Given the description of an element on the screen output the (x, y) to click on. 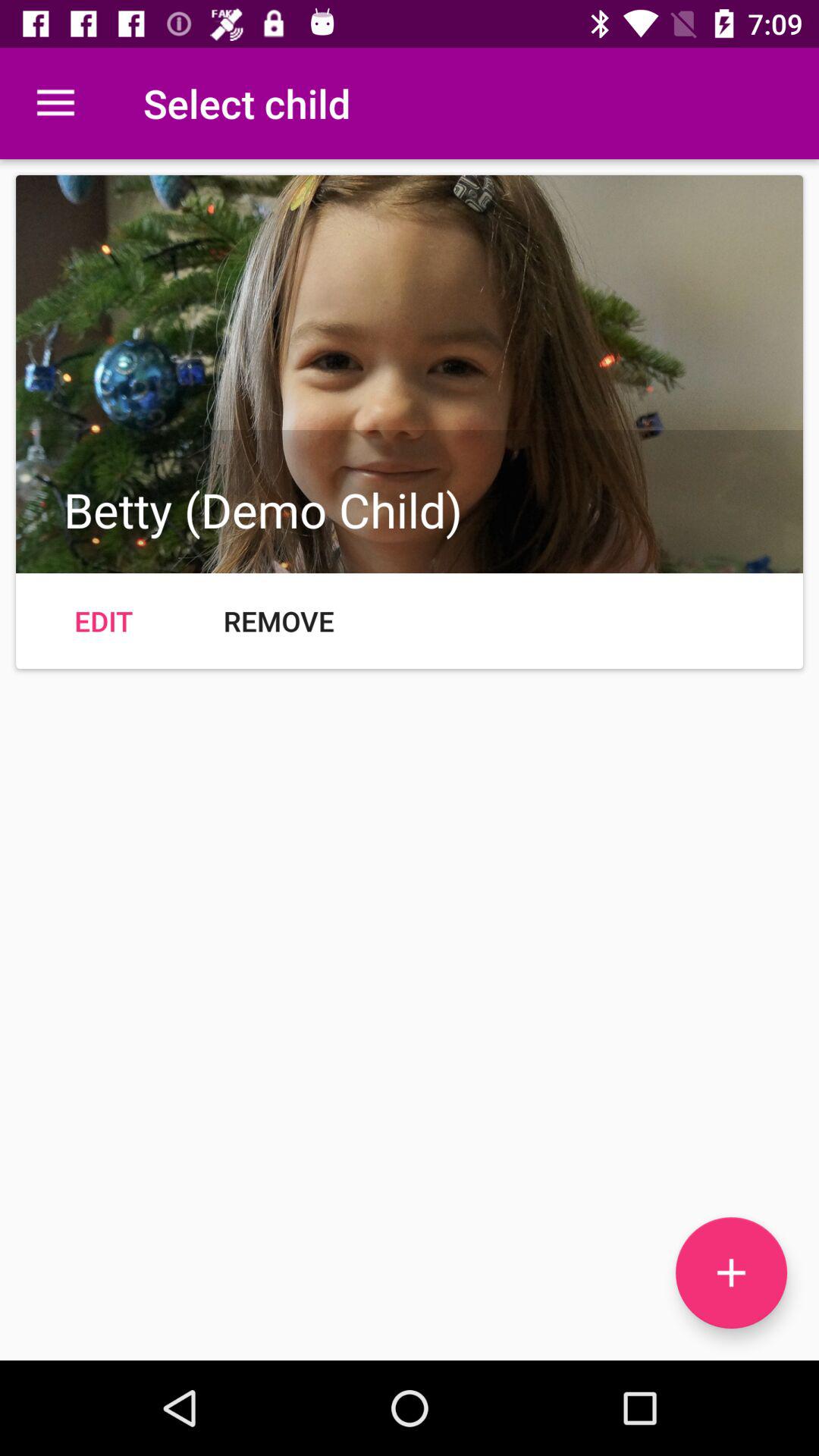
click icon next to remove icon (103, 620)
